Given the description of an element on the screen output the (x, y) to click on. 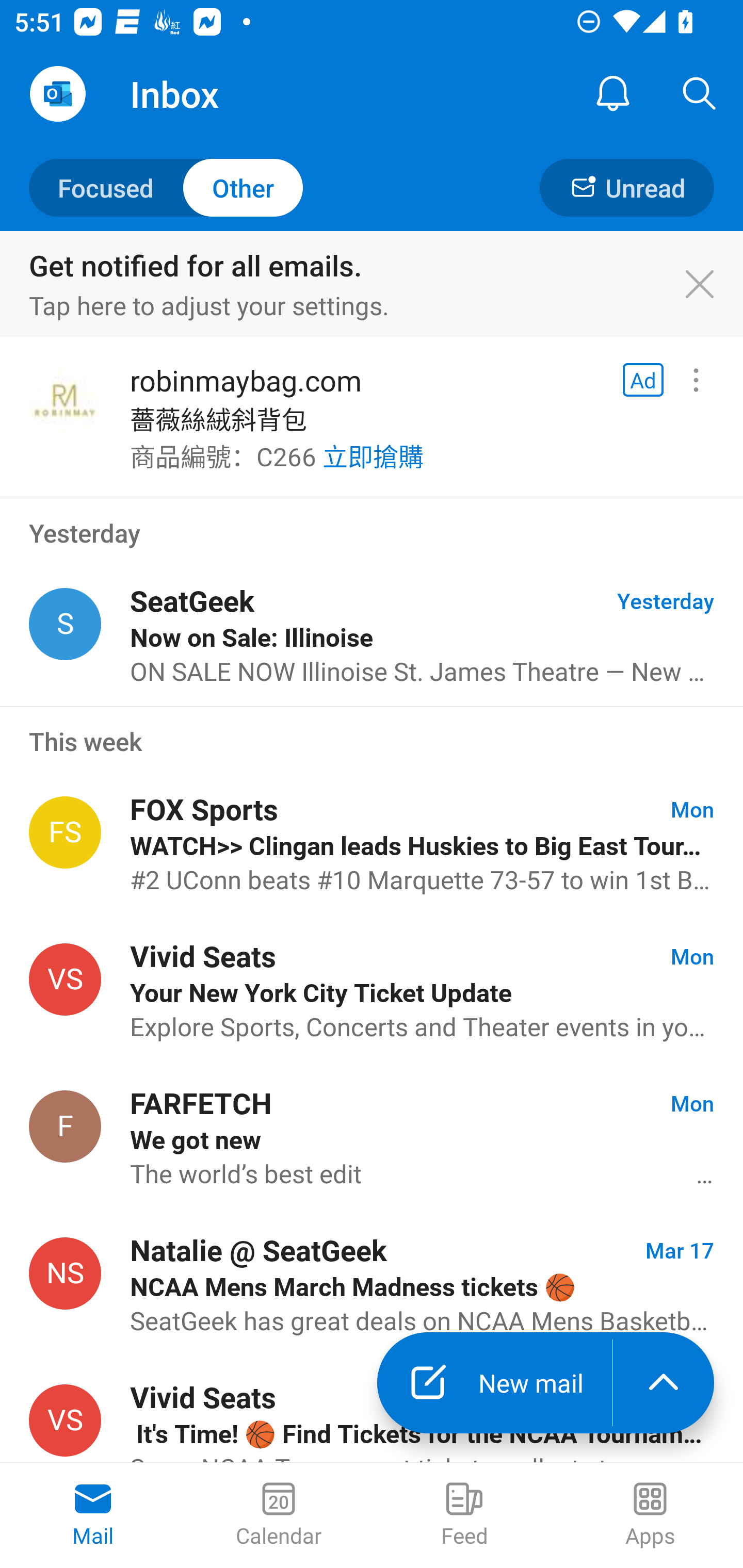
Notification Center (612, 93)
Search, ,  (699, 93)
Open Navigation Drawer (57, 94)
Toggle to Focused Inbox (165, 187)
Close Notification (710, 284)
Ad options menu button (695, 380)
Ad (642, 379)
SeatGeek, events@seatgeek.com (64, 624)
FOX Sports, email@inbox.foxsports.com (64, 832)
Vivid Seats, tickets@live.vividseats.com (64, 979)
FARFETCH, farfetch@email.farfetch.com (64, 1125)
Natalie @ SeatGeek, events@seatgeek.com (64, 1273)
New mail (494, 1382)
launch the extended action menu (663, 1382)
Vivid Seats, tickets@live.vividseats.com (64, 1420)
Calendar (278, 1515)
Feed (464, 1515)
Apps (650, 1515)
